Given the description of an element on the screen output the (x, y) to click on. 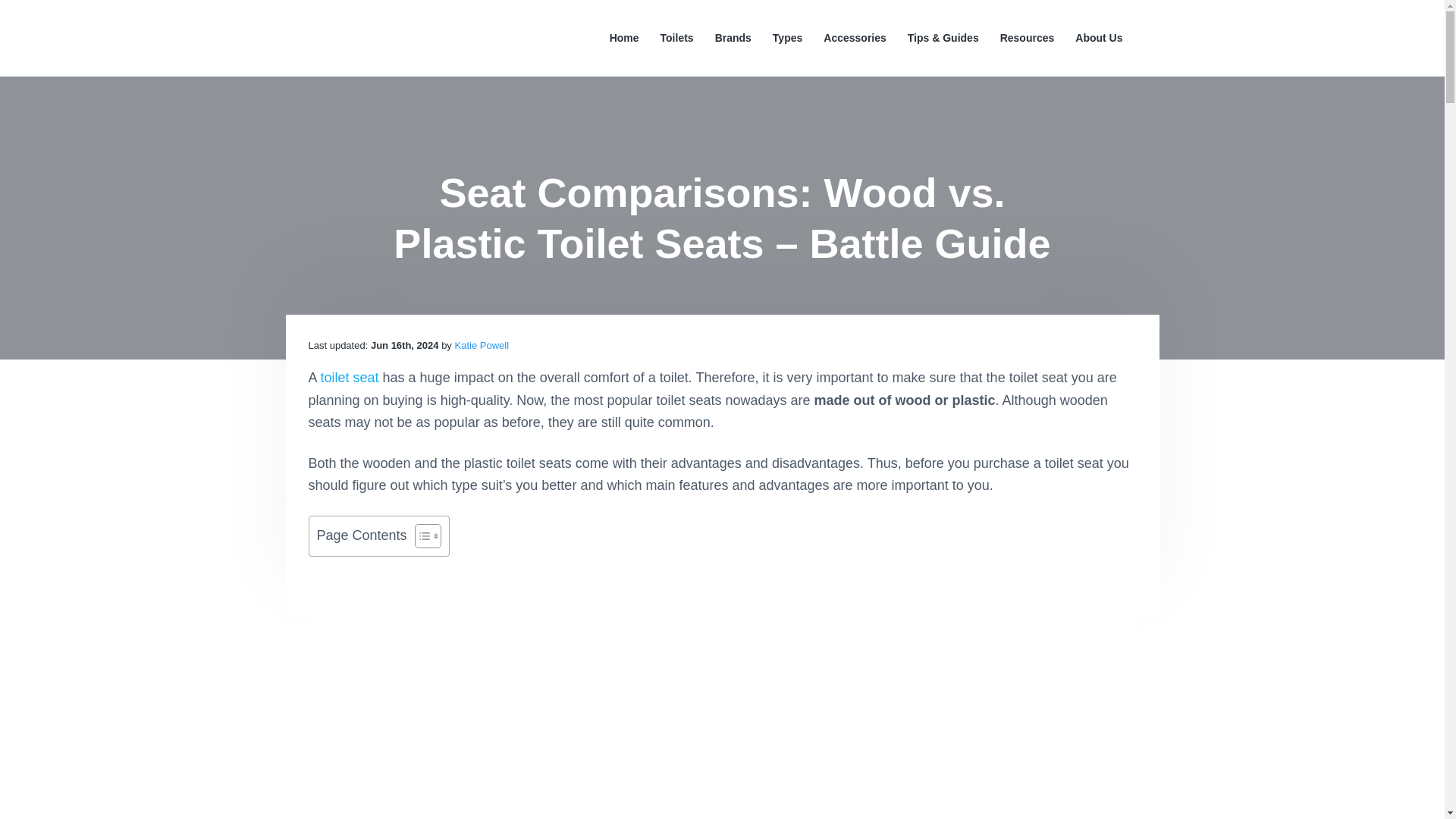
Brands (732, 37)
Toilets (677, 37)
Home (624, 37)
